Given the description of an element on the screen output the (x, y) to click on. 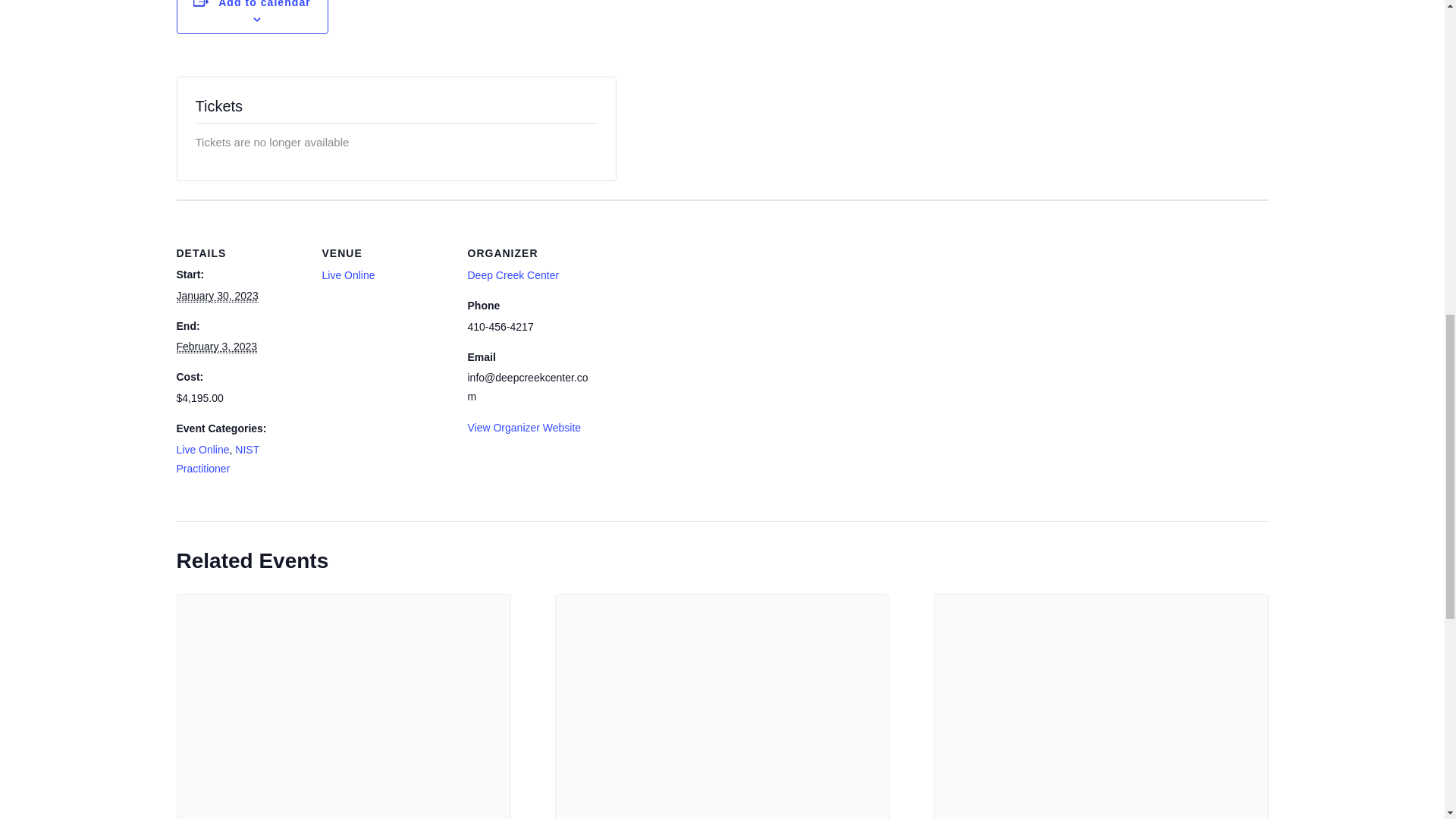
Deep Creek Center (513, 275)
2023-01-30 (216, 295)
2023-02-03 (216, 346)
